Given the description of an element on the screen output the (x, y) to click on. 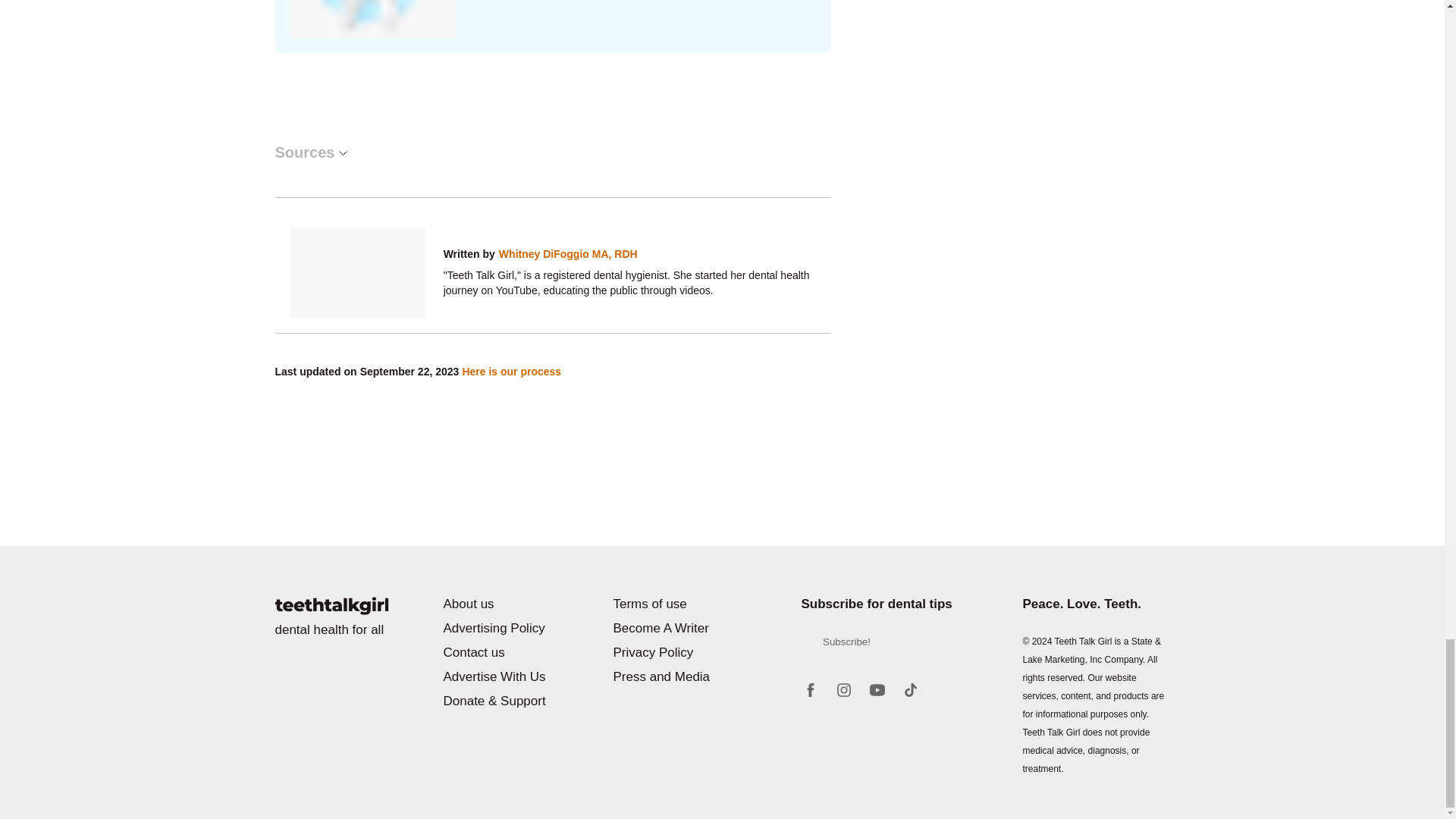
Privacy Policy (678, 652)
About us (509, 604)
Advertise With Us (509, 677)
Sources (310, 151)
Whitney DiFoggio MA, RDH (568, 253)
Terms of use (678, 604)
Here is our process (510, 371)
Advertising Policy (509, 628)
Become A Writer (678, 628)
Contact us (509, 652)
